Given the description of an element on the screen output the (x, y) to click on. 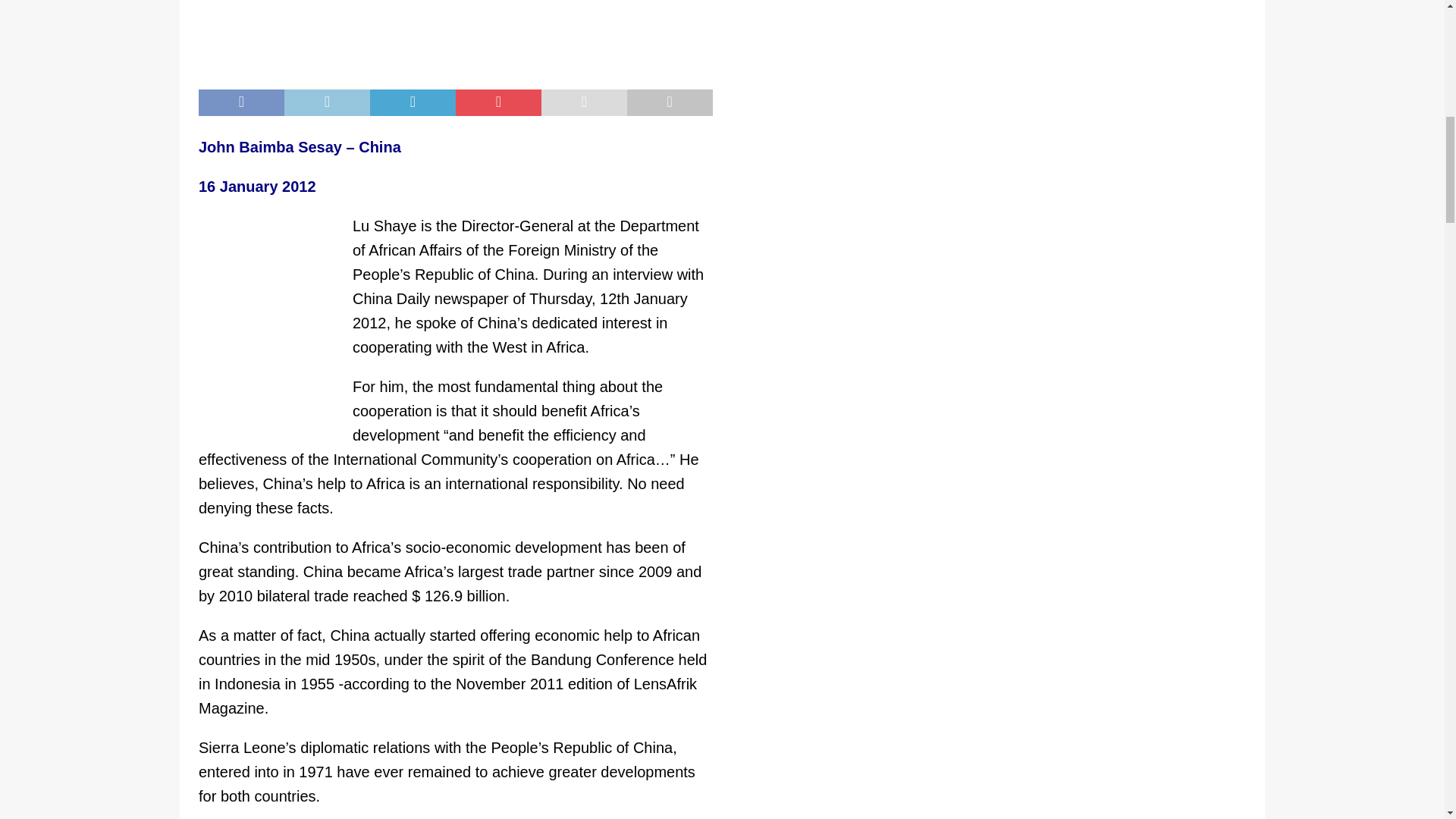
china in africa (455, 37)
